Given the description of an element on the screen output the (x, y) to click on. 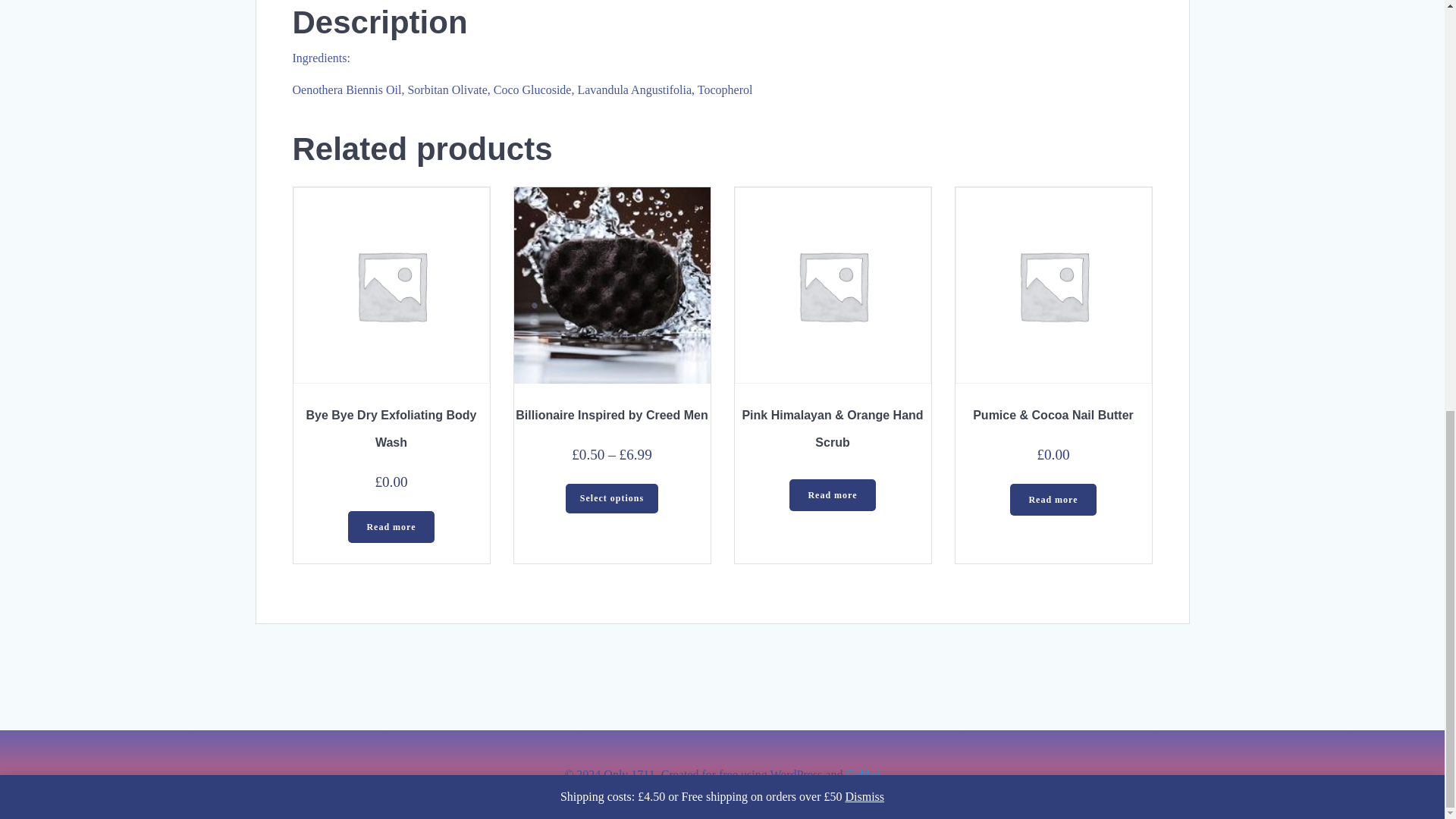
Select options (612, 498)
Read more (390, 526)
Read more (832, 495)
Colibri (862, 774)
Read more (1053, 499)
